Given the description of an element on the screen output the (x, y) to click on. 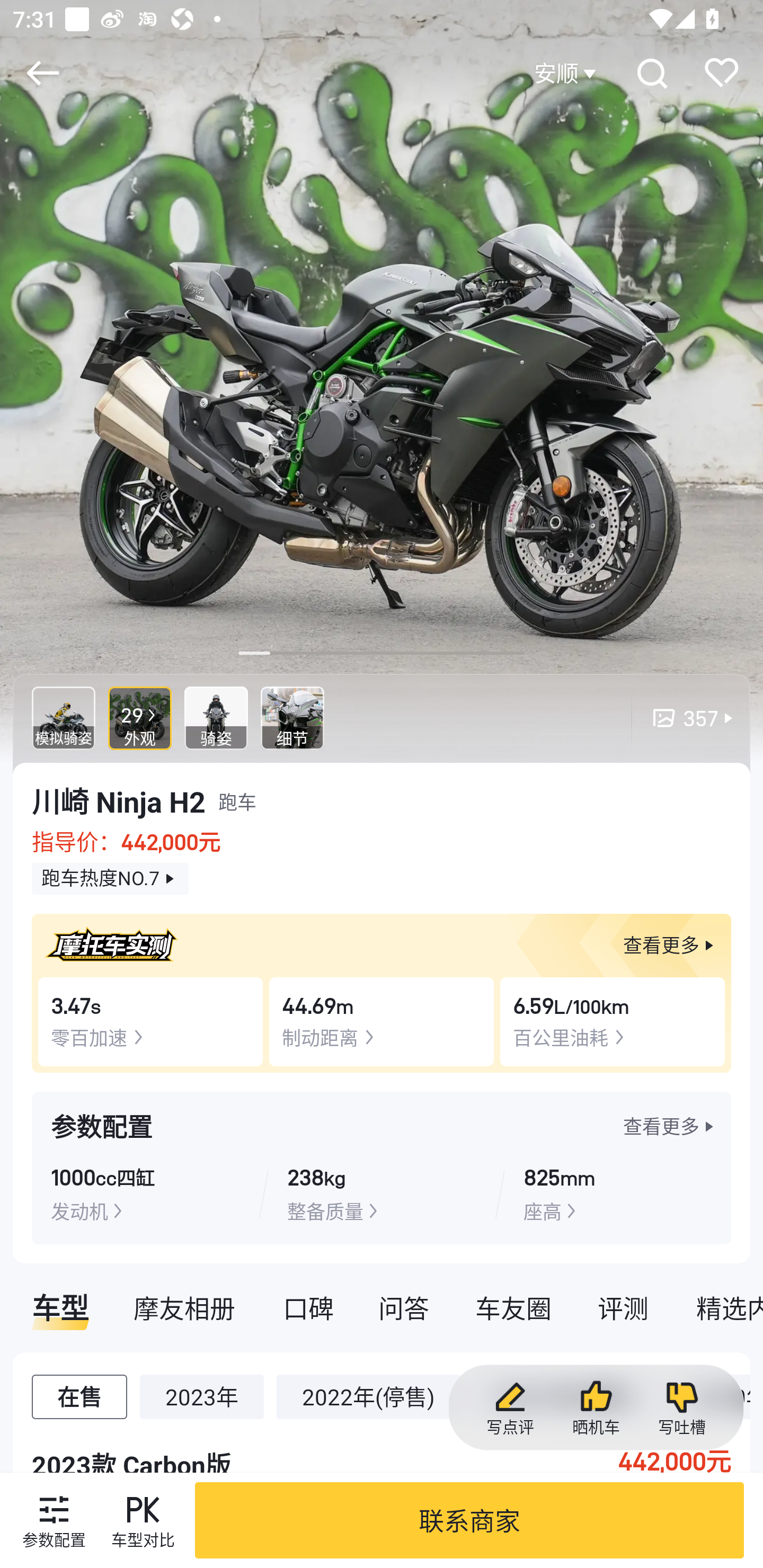
 (42, 72)
 (651, 72)
安顺 (567, 73)
模拟骑姿 (63, 717)
29  外观 (139, 717)
骑姿 (215, 717)
细节 (292, 717)
 357  (684, 717)
跑车热度NO.7  (110, 878)
3.47s 零百加速  (150, 1021)
44.69m 制动距离  (381, 1021)
6.59L/100km 百公里油耗  (612, 1021)
查看更多 (670, 1126)
1000cc四缸 发动机  (144, 1192)
238kg 整备质量  (380, 1192)
825mm 座高  (617, 1192)
摩友相册 (184, 1307)
口碑 (308, 1307)
问答 (403, 1307)
车友圈 (513, 1307)
评测 (622, 1307)
在售 (79, 1397)
2023年 (201, 1397)
2022年(停售) (368, 1397)
写点评 (510, 1407)
晒机车 (595, 1407)
写吐槽 (681, 1407)
2023款 Carbon版 442,000元 (381, 1450)
参数配置 (53, 1520)
车型对比 (142, 1520)
联系商家 (469, 1519)
